Given the description of an element on the screen output the (x, y) to click on. 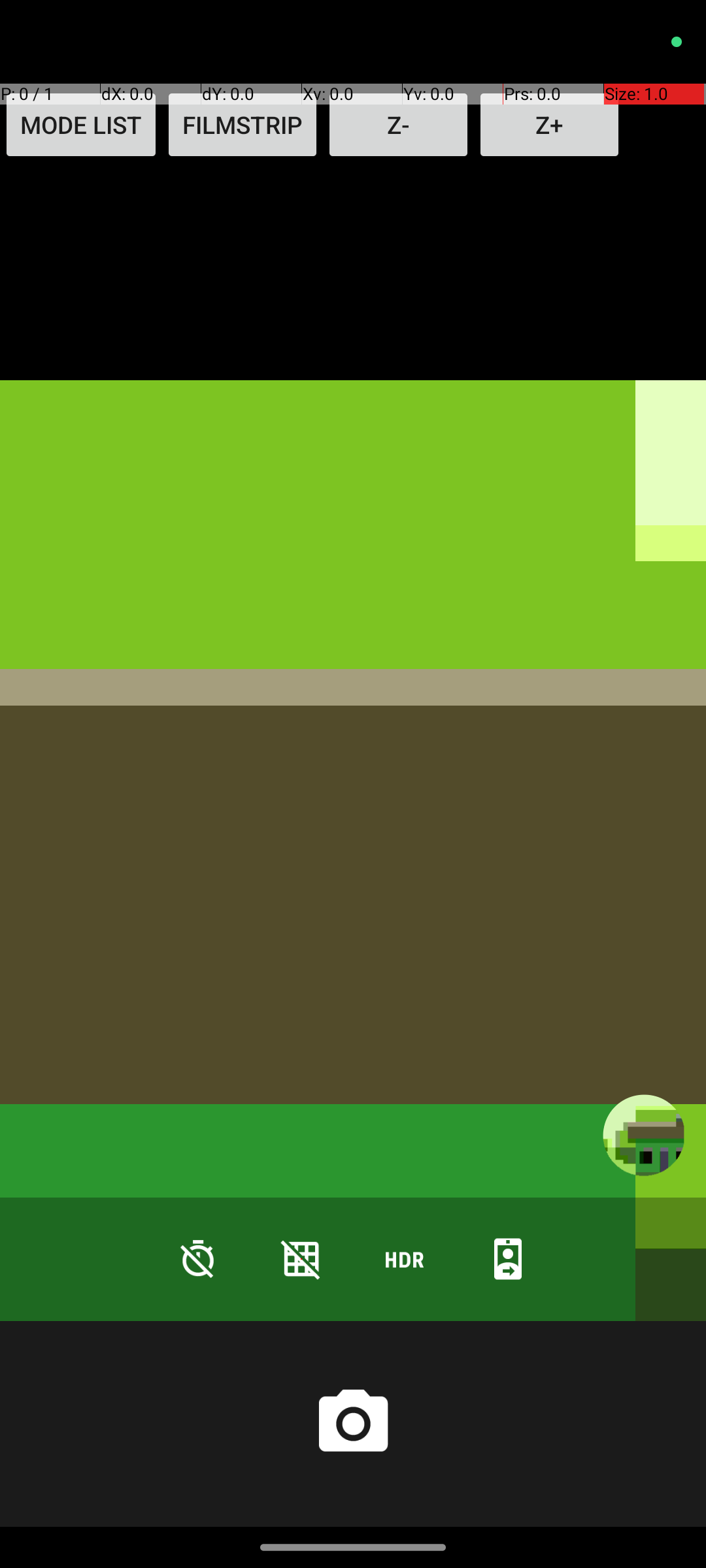
Countdown timer is off Element type: android.widget.ImageButton (197, 1258)
Grid lines off Element type: android.widget.ImageButton (301, 1258)
HDR on Element type: android.widget.ImageButton (404, 1258)
Front camera Element type: android.widget.ImageButton (507, 1258)
